Given the description of an element on the screen output the (x, y) to click on. 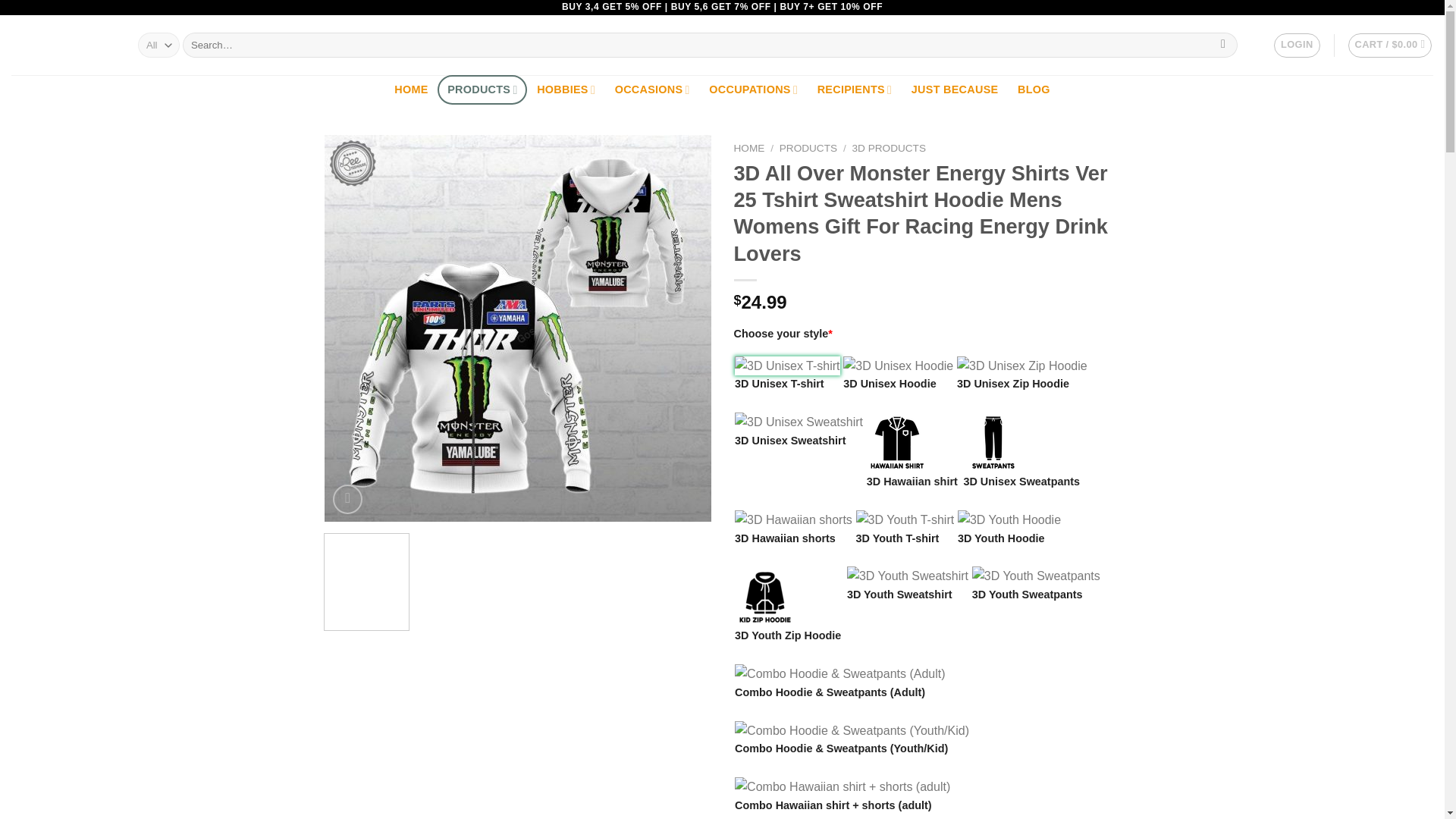
HOME (411, 89)
Beeteehouse - Just Your Style (63, 45)
Cart (1390, 45)
Zoom (347, 499)
LOGIN (1296, 45)
Search (1223, 45)
PRODUCTS (482, 89)
HOBBIES (566, 89)
